Given the description of an element on the screen output the (x, y) to click on. 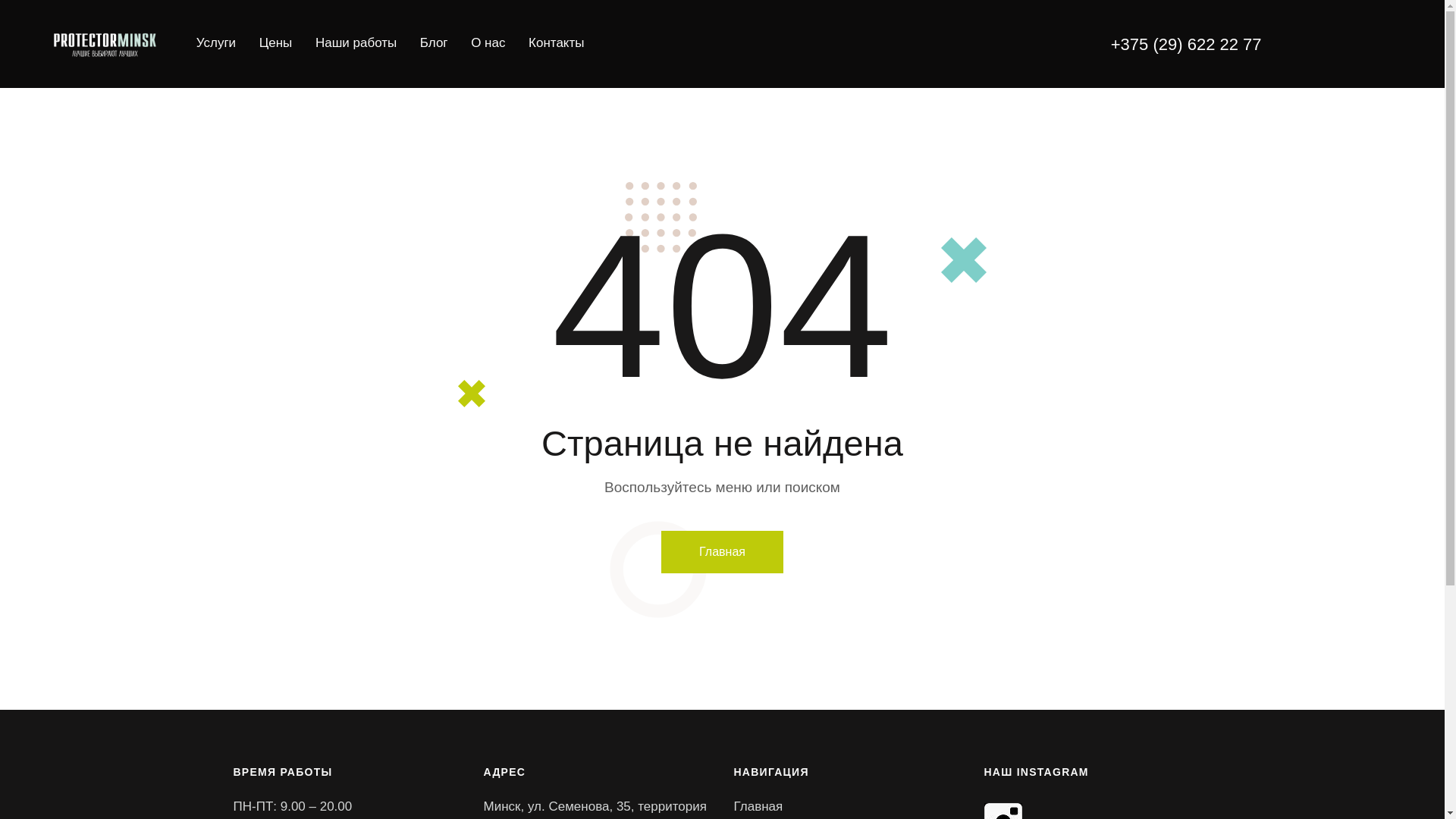
+375 (29) 622 22 77 Element type: text (1185, 43)
